Given the description of an element on the screen output the (x, y) to click on. 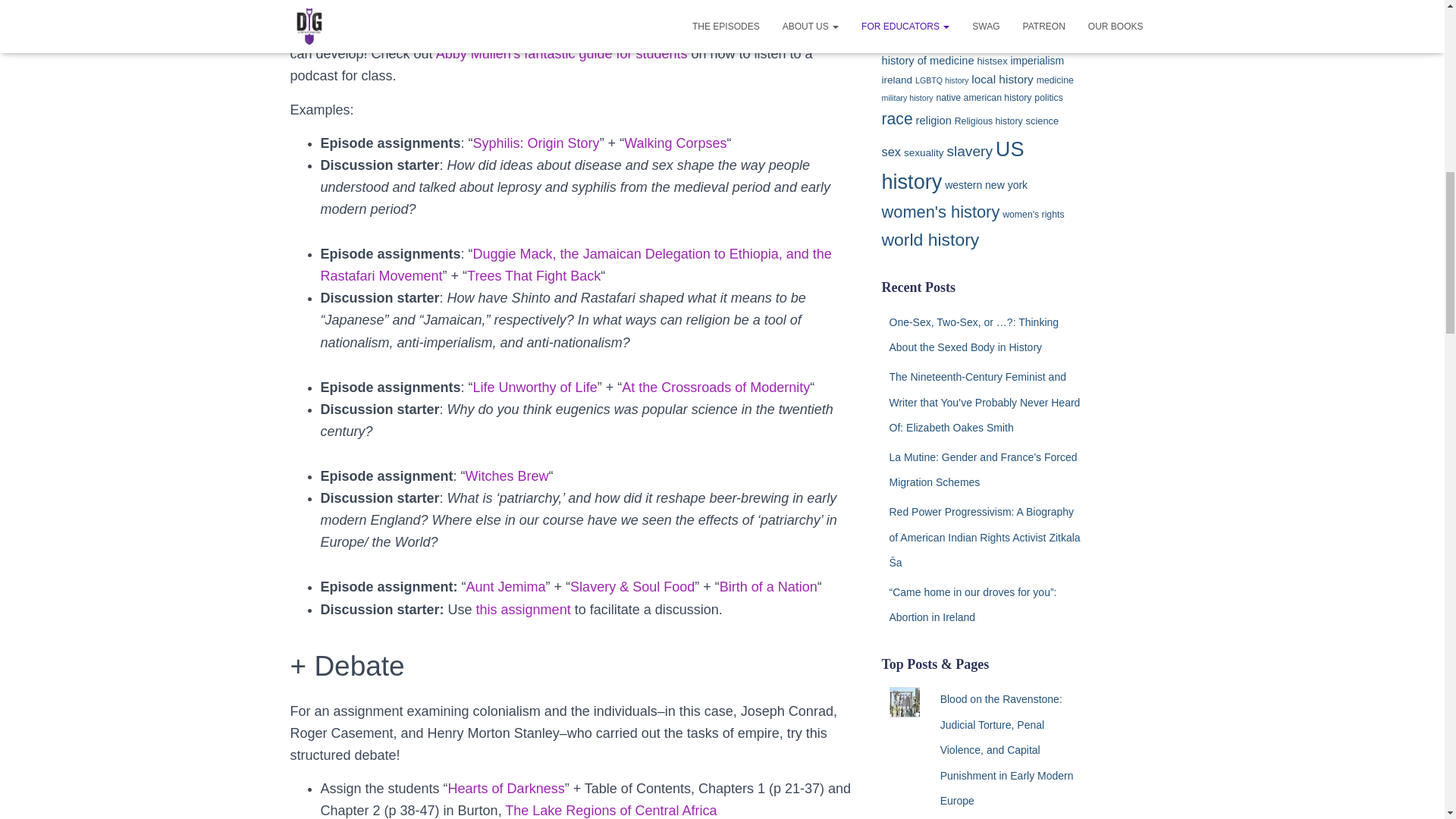
Witches Brew (506, 476)
At the Crossroads of Modernity (715, 387)
Aunt Jemima (505, 586)
Birth of a Nation (767, 586)
The Lake Regions of Central Africa (610, 810)
Hearts of Darkness (506, 788)
Life Unworthy of Life (534, 387)
Walking Corpses (675, 142)
Syphilis: Origin Story (536, 142)
Trees That Fight Back (533, 275)
this assignment (523, 609)
